Given the description of an element on the screen output the (x, y) to click on. 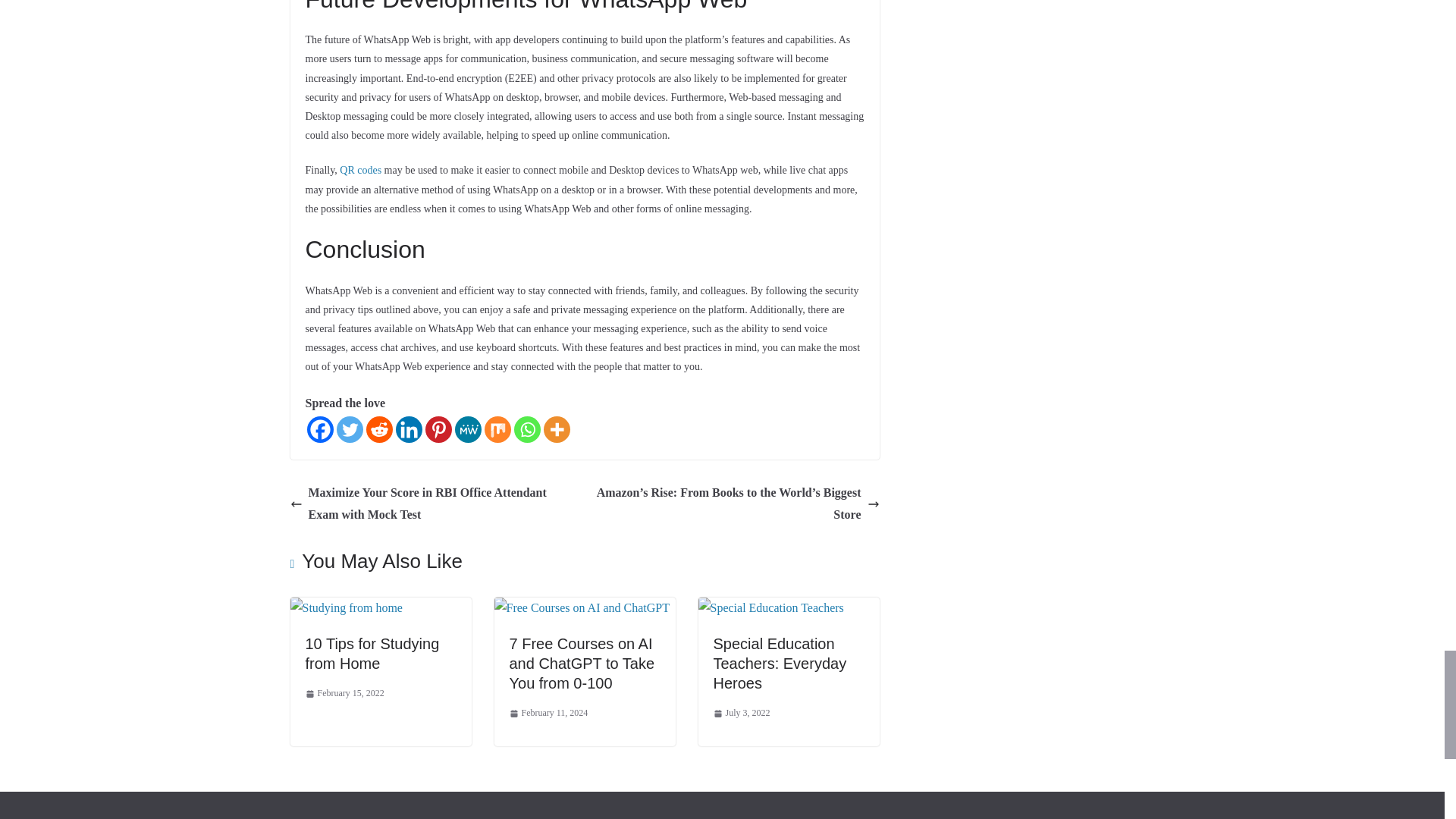
Twitter (349, 429)
Linkedin (409, 429)
Reddit (378, 429)
Facebook (319, 429)
